Given the description of an element on the screen output the (x, y) to click on. 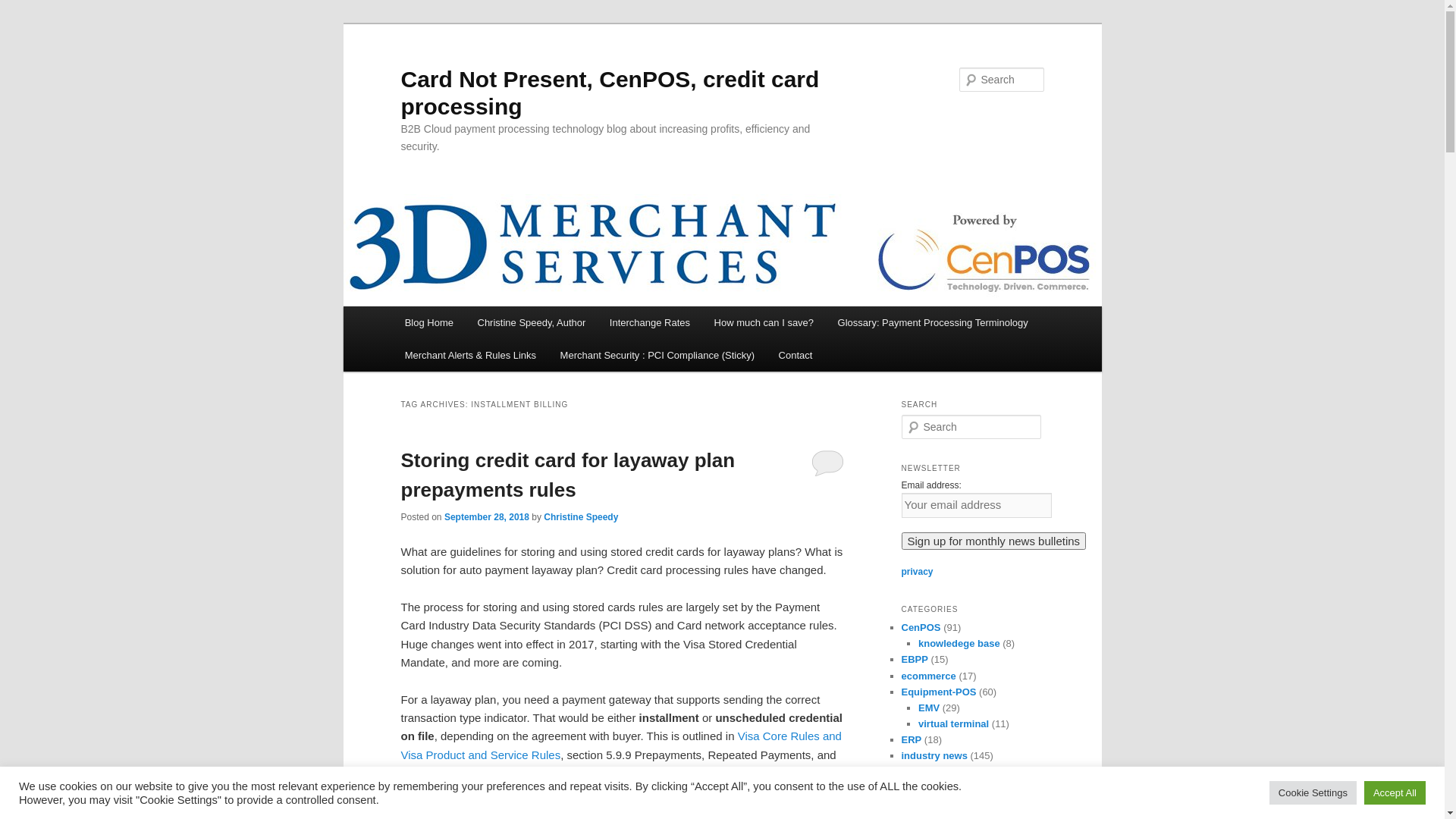
knowledege base Element type: text (959, 643)
EBPP Element type: text (913, 659)
Glossary: Payment Processing Terminology Element type: text (932, 322)
ecommerce Element type: text (927, 675)
ERP Element type: text (910, 739)
industry news Element type: text (933, 755)
How much can I save? Element type: text (763, 322)
Visa Core Rules and Visa Product and Service Rules Element type: text (620, 744)
Christine Speedy Element type: text (580, 516)
Interchange Rates Element type: text (649, 322)
Christine Speedy, Author Element type: text (531, 322)
Merchant Security : PCI Compliance (Sticky) Element type: text (657, 354)
Blog Home Element type: text (428, 322)
CenPOS Element type: text (920, 627)
Merchant Alerts & Rules Links Element type: text (470, 354)
Accept All Element type: text (1394, 792)
dealer services Element type: text (953, 771)
EMV Element type: text (928, 707)
Contact Element type: text (795, 354)
September 28, 2018 Element type: text (486, 516)
privacy Element type: text (916, 571)
government news Element type: text (960, 787)
managing costs Element type: text (937, 803)
Sign up for monthly news bulletins Element type: text (992, 540)
Card Not Present, CenPOS, credit card processing Element type: text (609, 92)
Search Element type: text (24, 8)
Skip to primary content Element type: text (22, 22)
virtual terminal Element type: text (953, 723)
Equipment-POS Element type: text (937, 691)
Storing credit card for layaway plan prepayments rules Element type: text (567, 474)
Search Element type: text (20, 10)
Cookie Settings Element type: text (1312, 792)
